Given the description of an element on the screen output the (x, y) to click on. 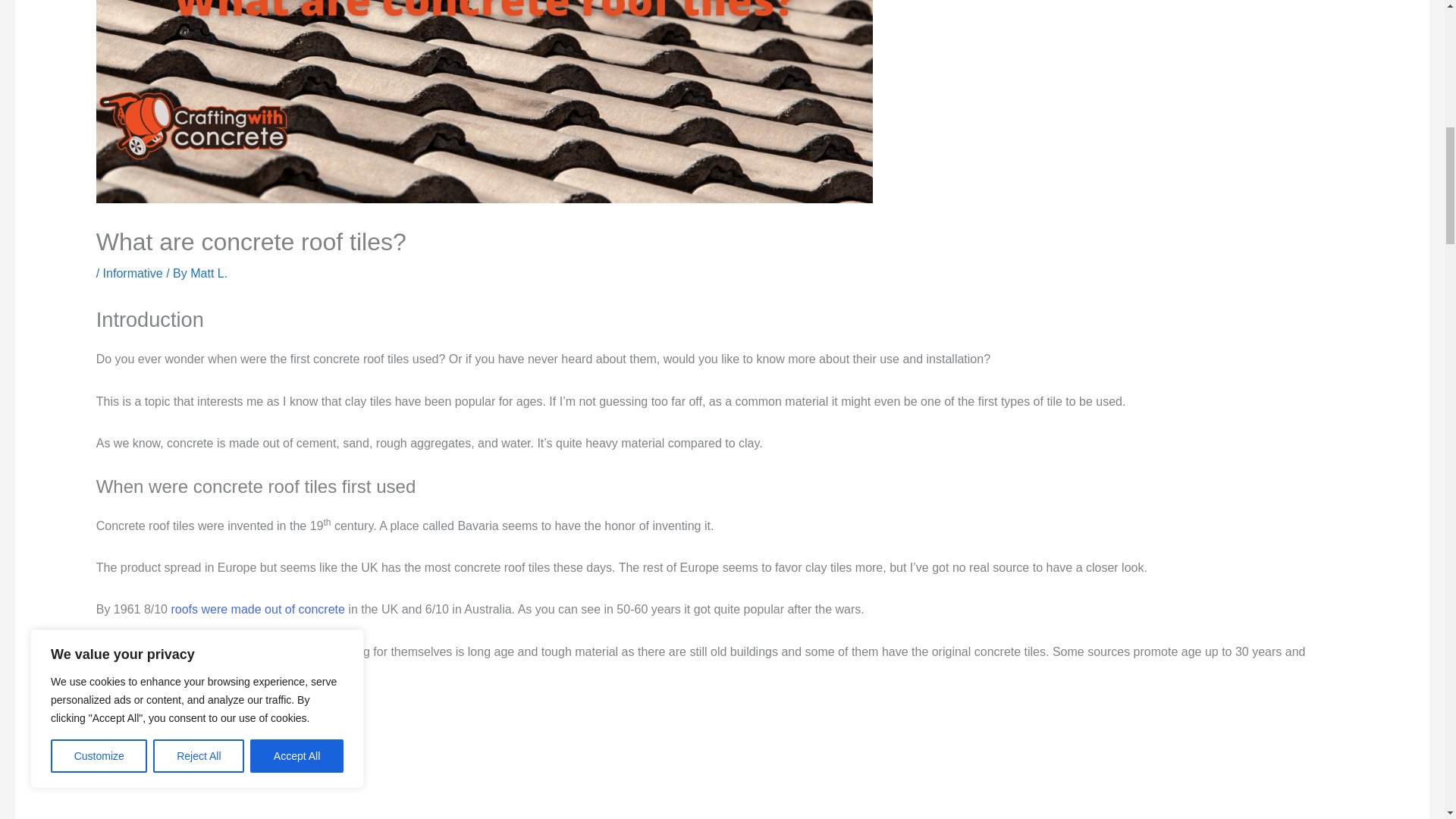
roofs were made out of concrete (256, 608)
Informative (133, 273)
View all posts by Matt L. (208, 273)
Matt L. (208, 273)
